Given the description of an element on the screen output the (x, y) to click on. 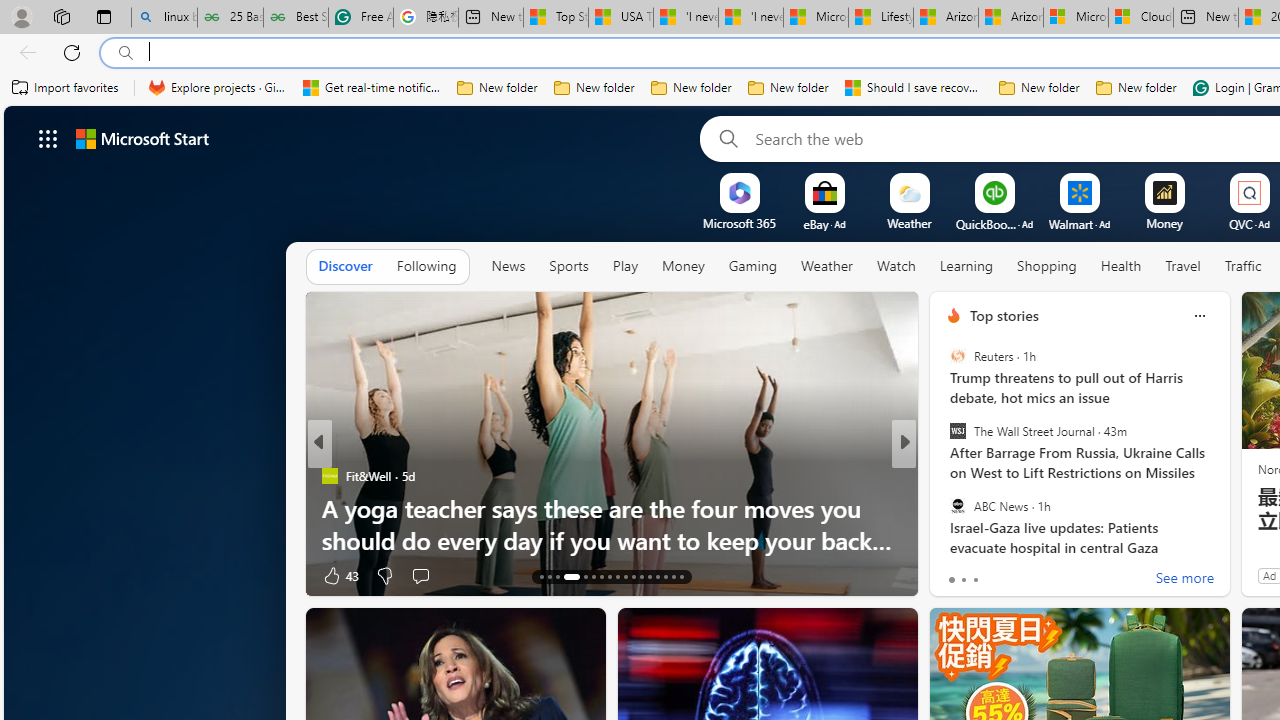
View comments 40 Comment (1035, 575)
AutomationID: waffle (47, 138)
Lifestyle - MSN (880, 17)
300 Like (959, 574)
Traffic (1242, 267)
Learning (965, 265)
AutomationID: tab-14 (549, 576)
View comments 2 Comment (1041, 574)
Health (1121, 265)
Top stories (1003, 315)
AutomationID: tab-13 (541, 576)
Travel (1183, 267)
